Given the description of an element on the screen output the (x, y) to click on. 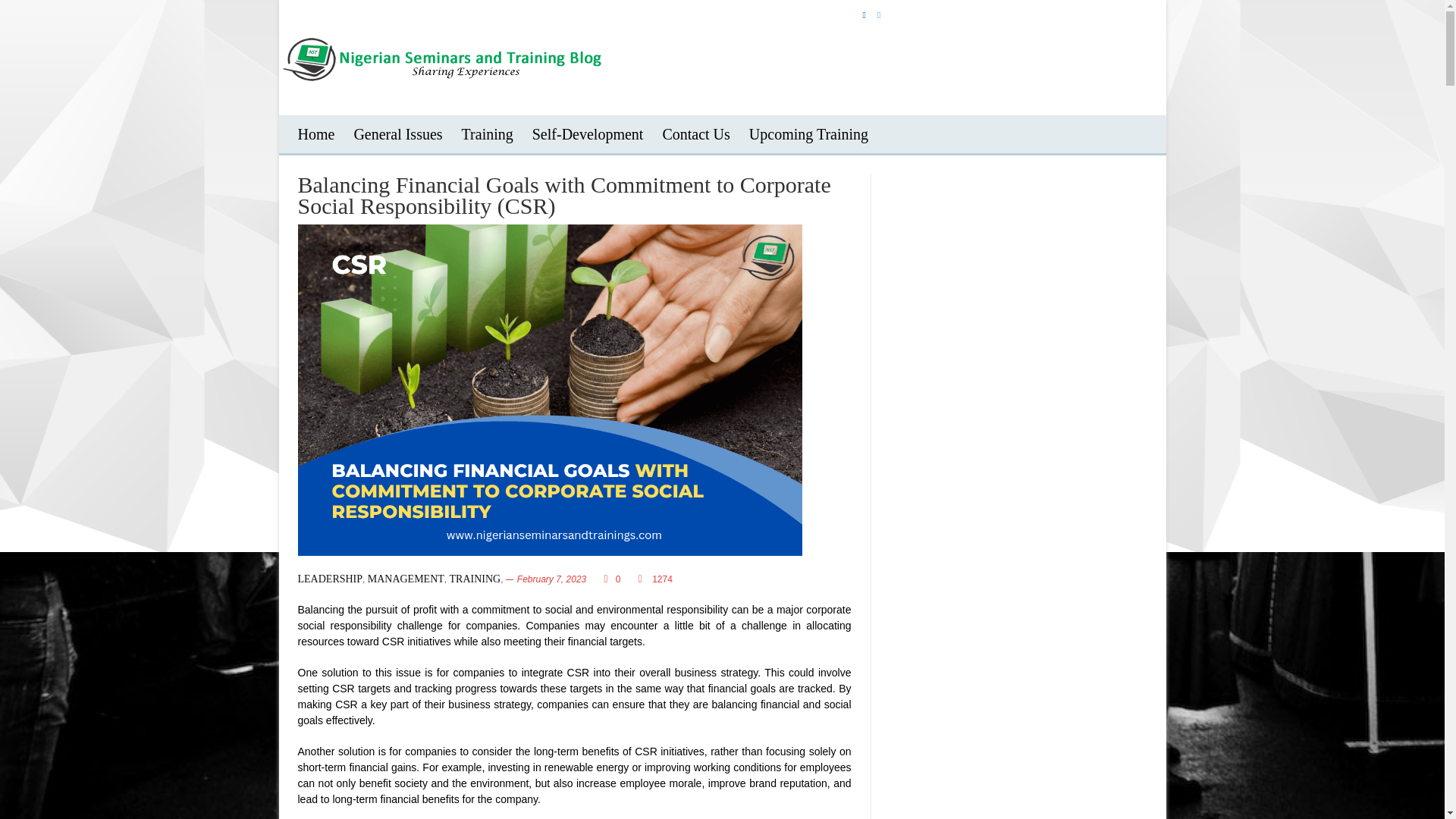
Self-Development (587, 133)
Training Category (474, 578)
Training (487, 133)
General Issues menu (397, 133)
Management Category (406, 578)
LEADERSHIP (329, 578)
Self-Development menu (587, 133)
Contact Us menu (695, 133)
Contact Us (695, 133)
Leadership Category (329, 578)
